Given the description of an element on the screen output the (x, y) to click on. 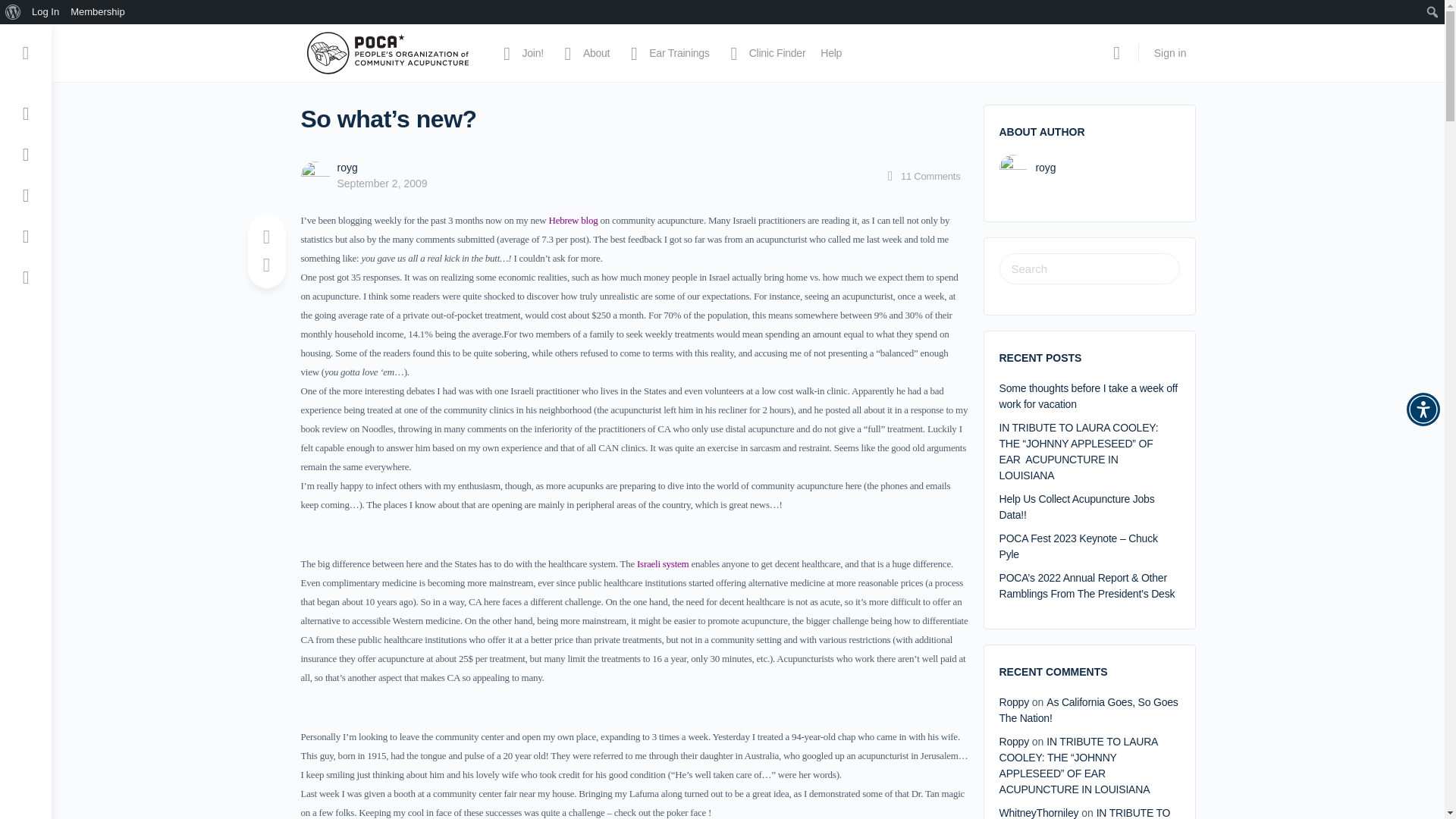
Clinic Finder (765, 52)
Membership (98, 12)
Log In (45, 12)
Ear Trainings (666, 52)
Sign in (1169, 53)
Search (16, 12)
Accessibility Menu (1422, 409)
